Given the description of an element on the screen output the (x, y) to click on. 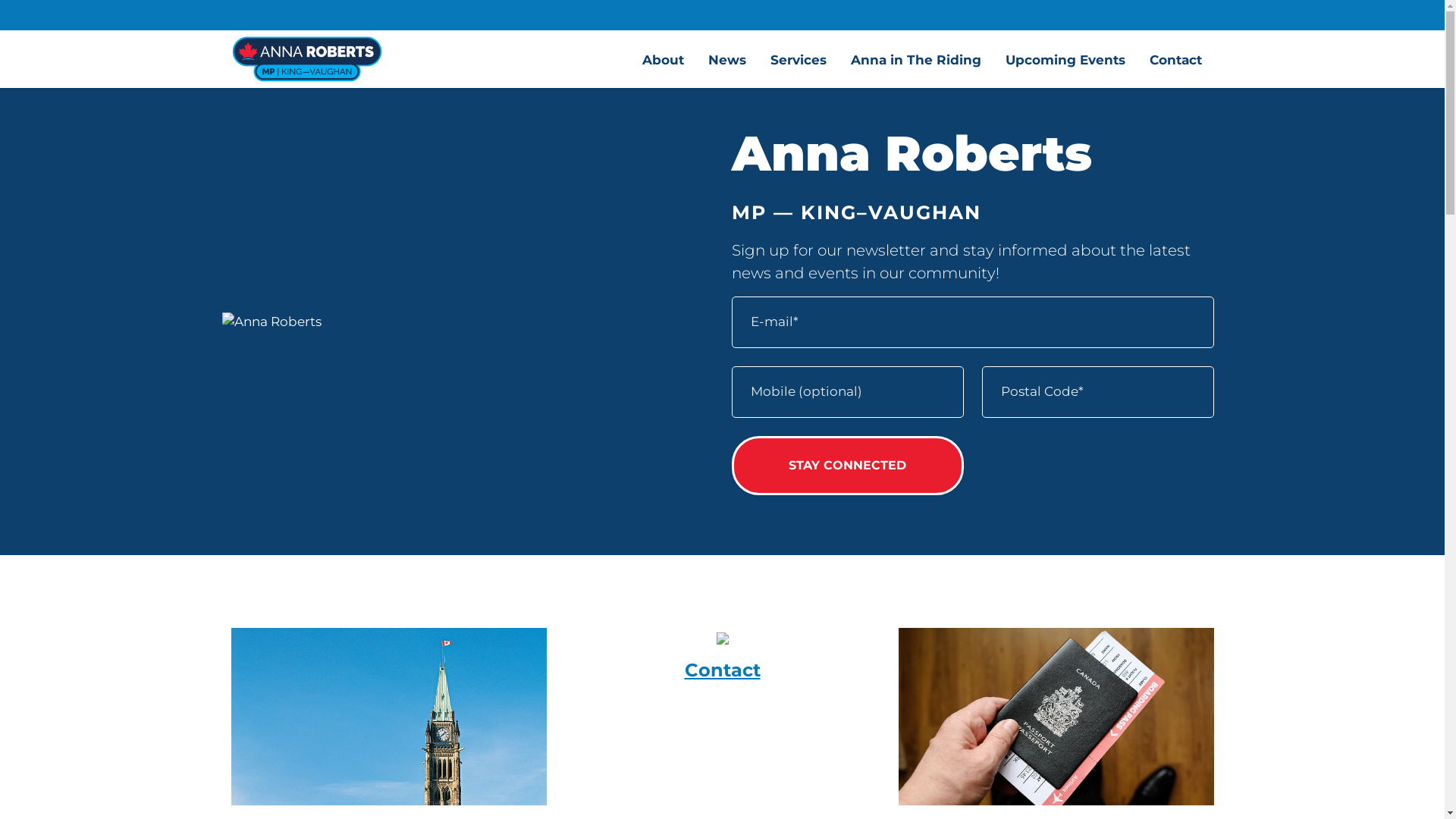
Services Element type: text (798, 59)
Contact Element type: text (1175, 59)
Contact Element type: text (721, 661)
Upcoming Events Element type: text (1065, 59)
News Element type: text (727, 59)
Stay Connected Element type: text (847, 465)
Anna in The Riding Element type: text (915, 59)
About Element type: text (662, 59)
